Given the description of an element on the screen output the (x, y) to click on. 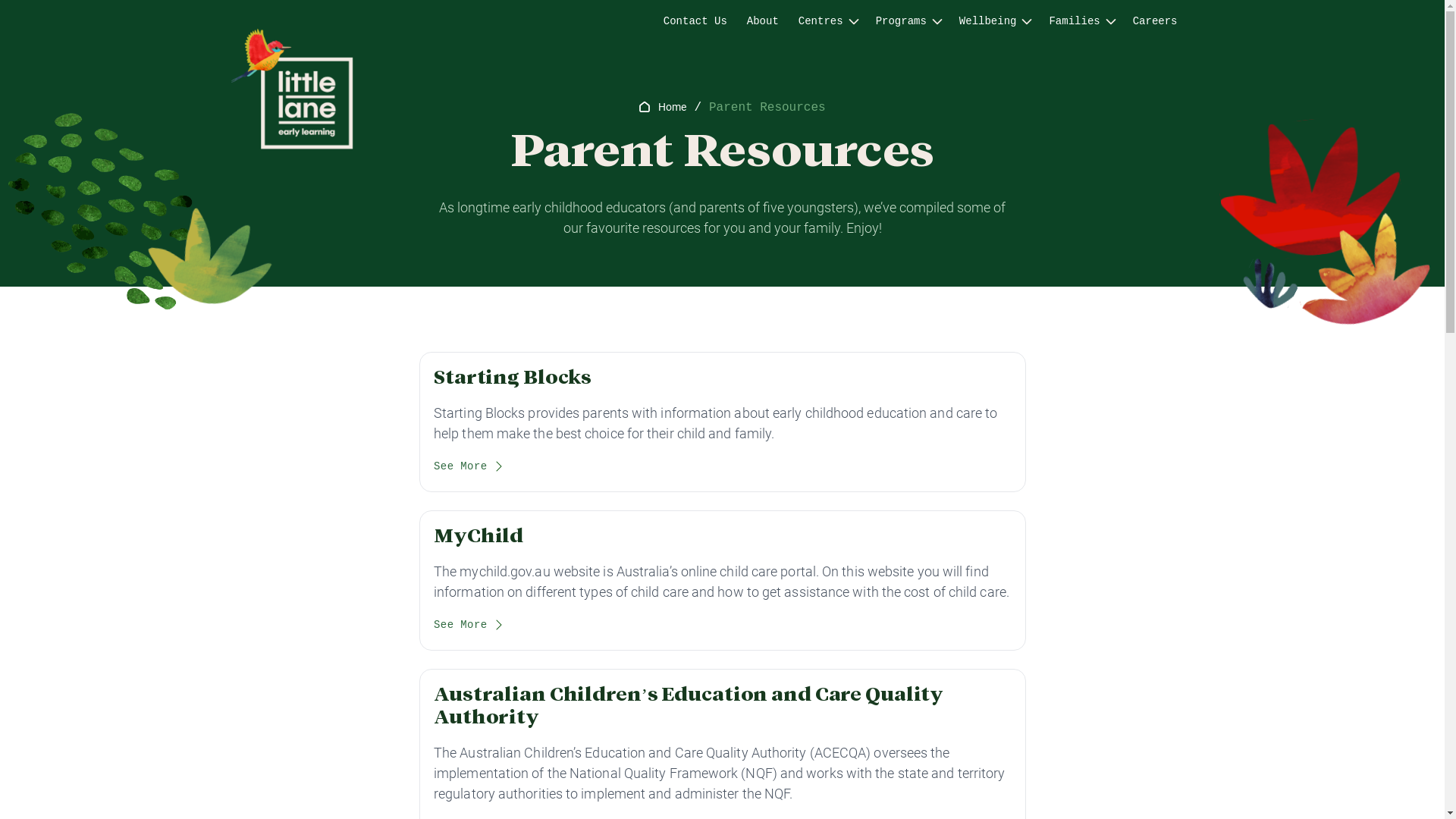
Programs Element type: text (900, 21)
Careers Element type: text (1154, 21)
About Element type: text (762, 21)
Wellbeing Element type: text (987, 21)
See More Element type: text (469, 467)
Contact Us Element type: text (695, 21)
Centres Element type: text (820, 21)
Home Element type: text (672, 106)
Families Element type: text (1073, 21)
See More Element type: text (469, 626)
